Given the description of an element on the screen output the (x, y) to click on. 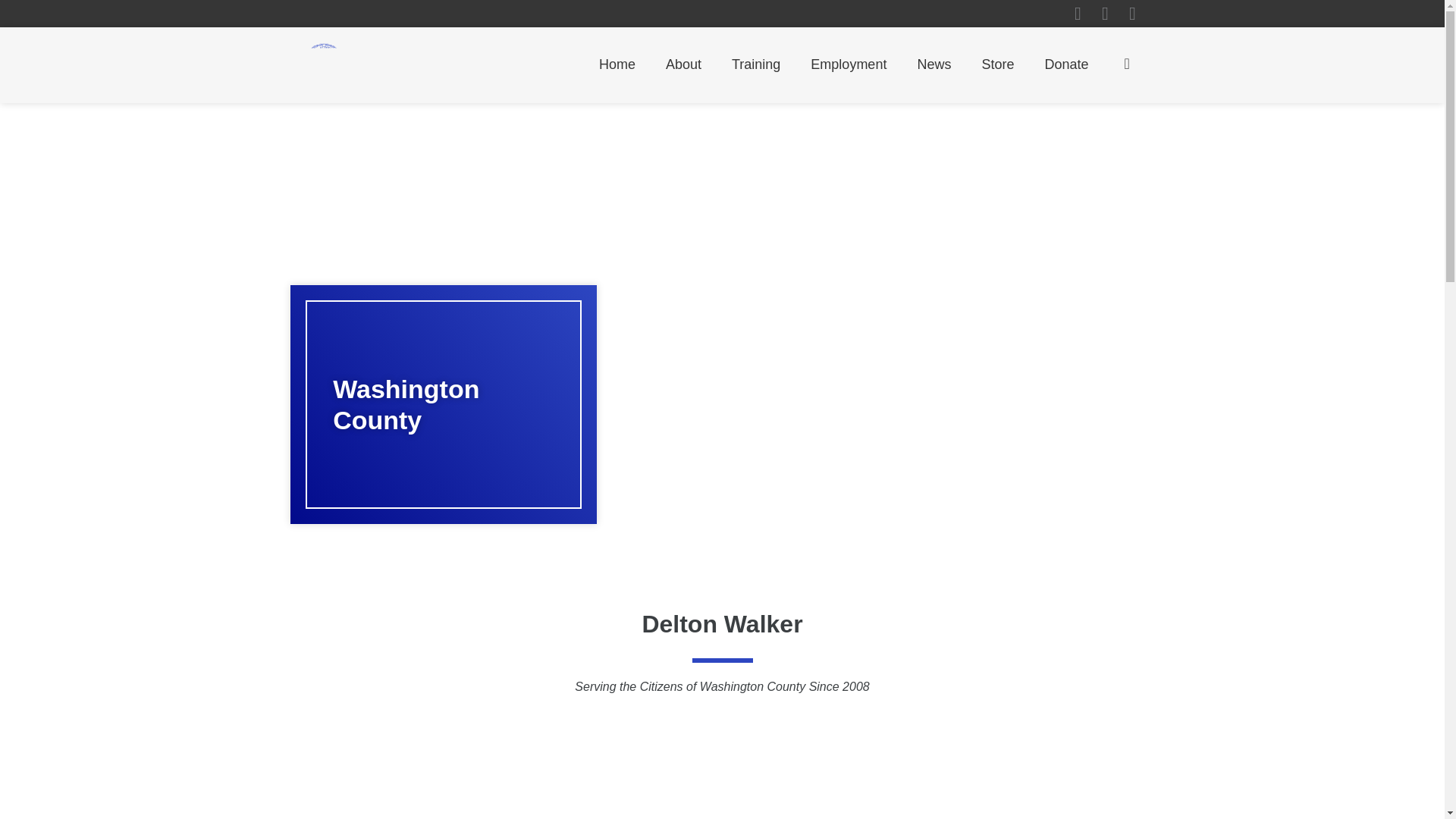
Employment (847, 63)
Donate (1066, 63)
Facebook (1077, 13)
Twitter (1104, 13)
Envelope (1131, 13)
Home (616, 63)
About (683, 63)
Cart (1126, 63)
News (933, 63)
Training (755, 63)
